Given the description of an element on the screen output the (x, y) to click on. 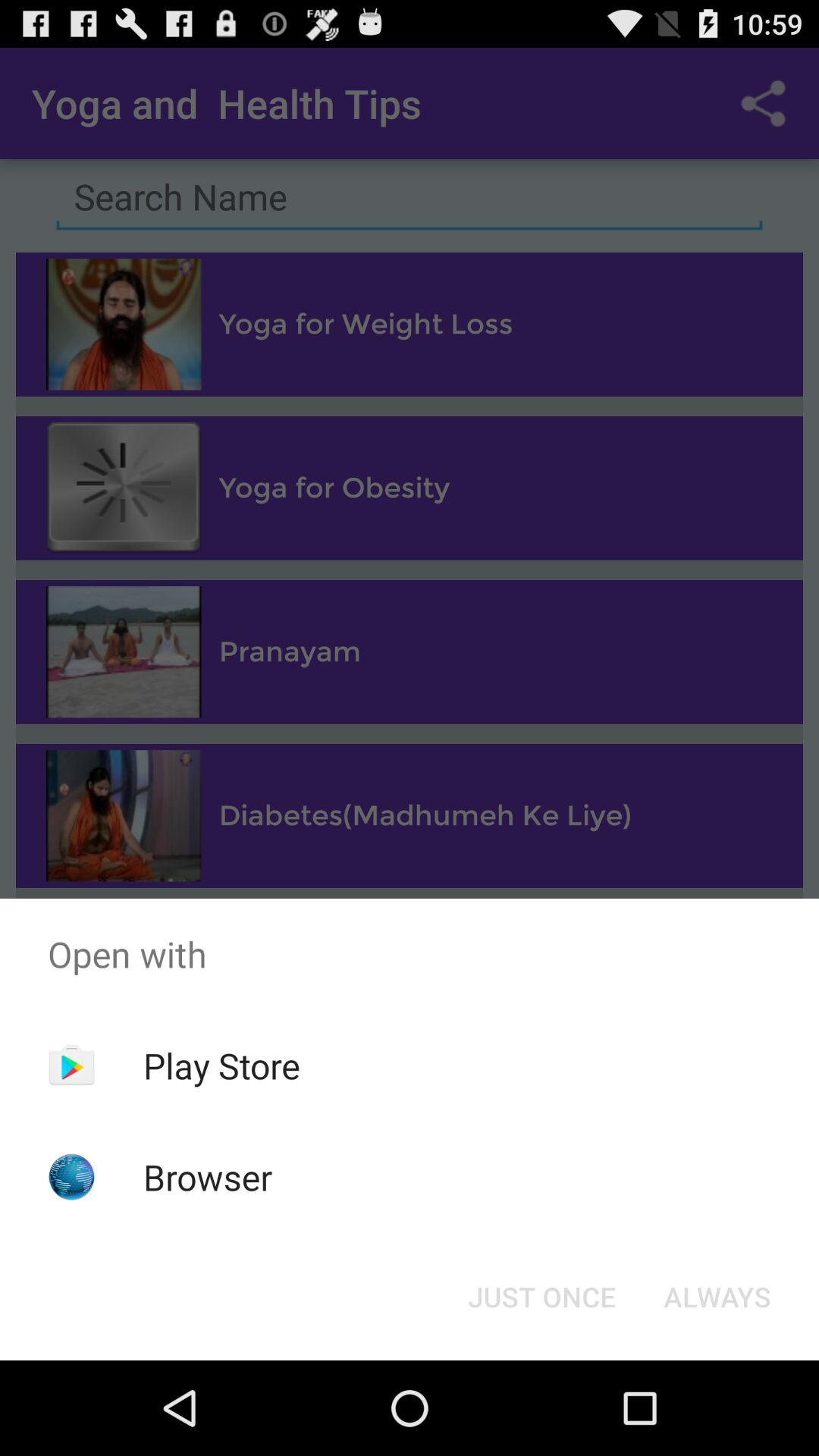
launch the item below the open with icon (717, 1296)
